Given the description of an element on the screen output the (x, y) to click on. 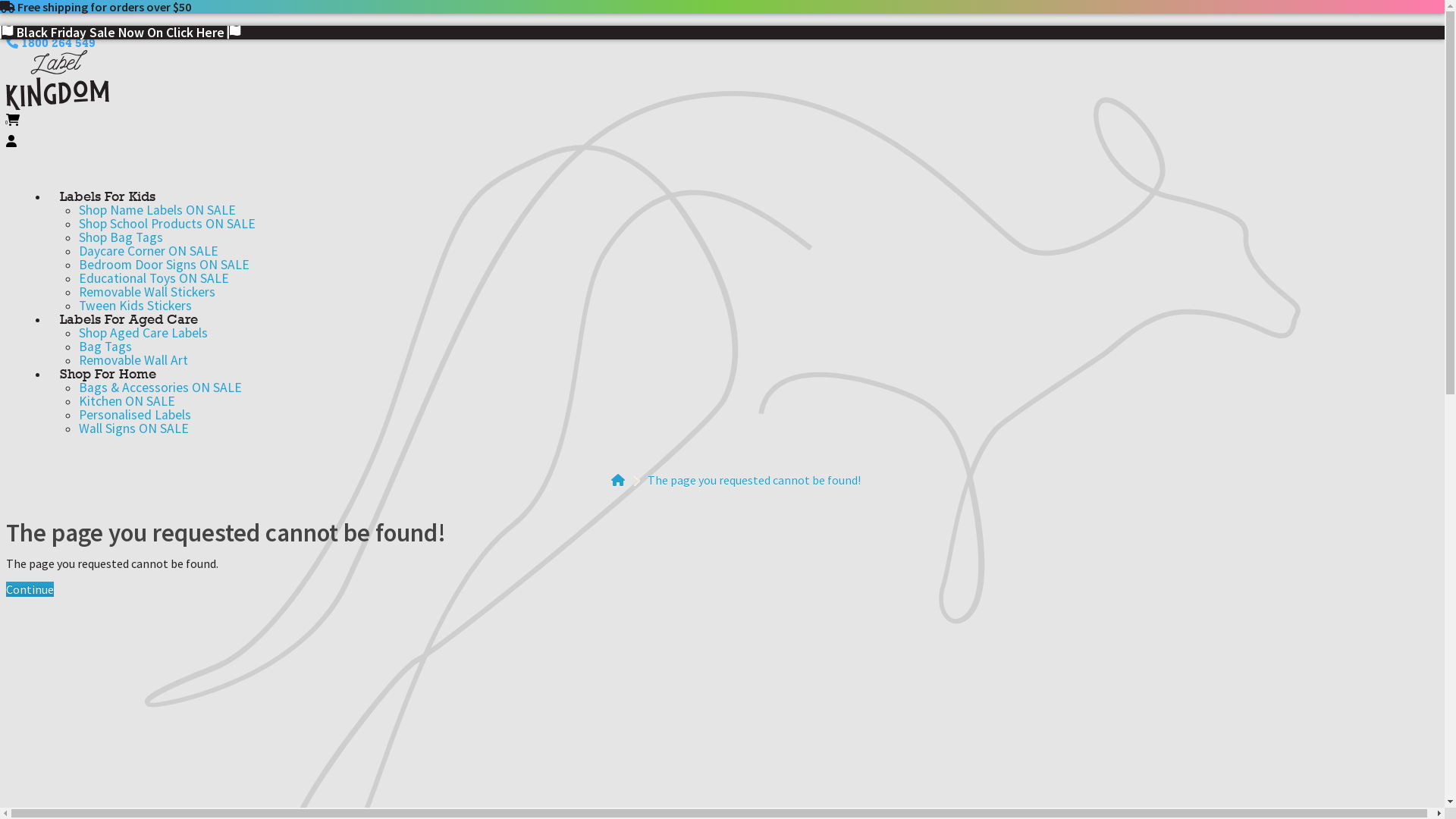
Label Kingdom Element type: hover (57, 80)
The page you requested cannot be found! Element type: text (753, 479)
Shop For Home Element type: text (107, 373)
Continue Element type: text (29, 588)
Bedroom Door Signs ON SALE Element type: text (163, 264)
0 Element type: text (728, 130)
Labels For Aged Care Element type: text (128, 318)
Personalised Labels Element type: text (134, 414)
Educational Toys ON SALE Element type: text (153, 277)
Daycare Corner ON SALE Element type: text (148, 250)
Kitchen ON SALE Element type: text (126, 400)
Shop School Products ON SALE Element type: text (166, 223)
Shop Name Labels ON SALE Element type: text (156, 209)
Shop Aged Care Labels Element type: text (142, 332)
Bags & Accessories ON SALE Element type: text (159, 387)
My Account Element type: hover (11, 140)
Black Friday Sale Now On Click Here Element type: text (120, 32)
Removable Wall Stickers Element type: text (146, 291)
Tween Kids Stickers Element type: text (134, 305)
Shop Bag Tags Element type: text (120, 237)
Labels For Kids Element type: text (107, 195)
Wall Signs ON SALE Element type: text (133, 428)
Bag Tags Element type: text (104, 346)
Removable Wall Art Element type: text (133, 359)
